Given the description of an element on the screen output the (x, y) to click on. 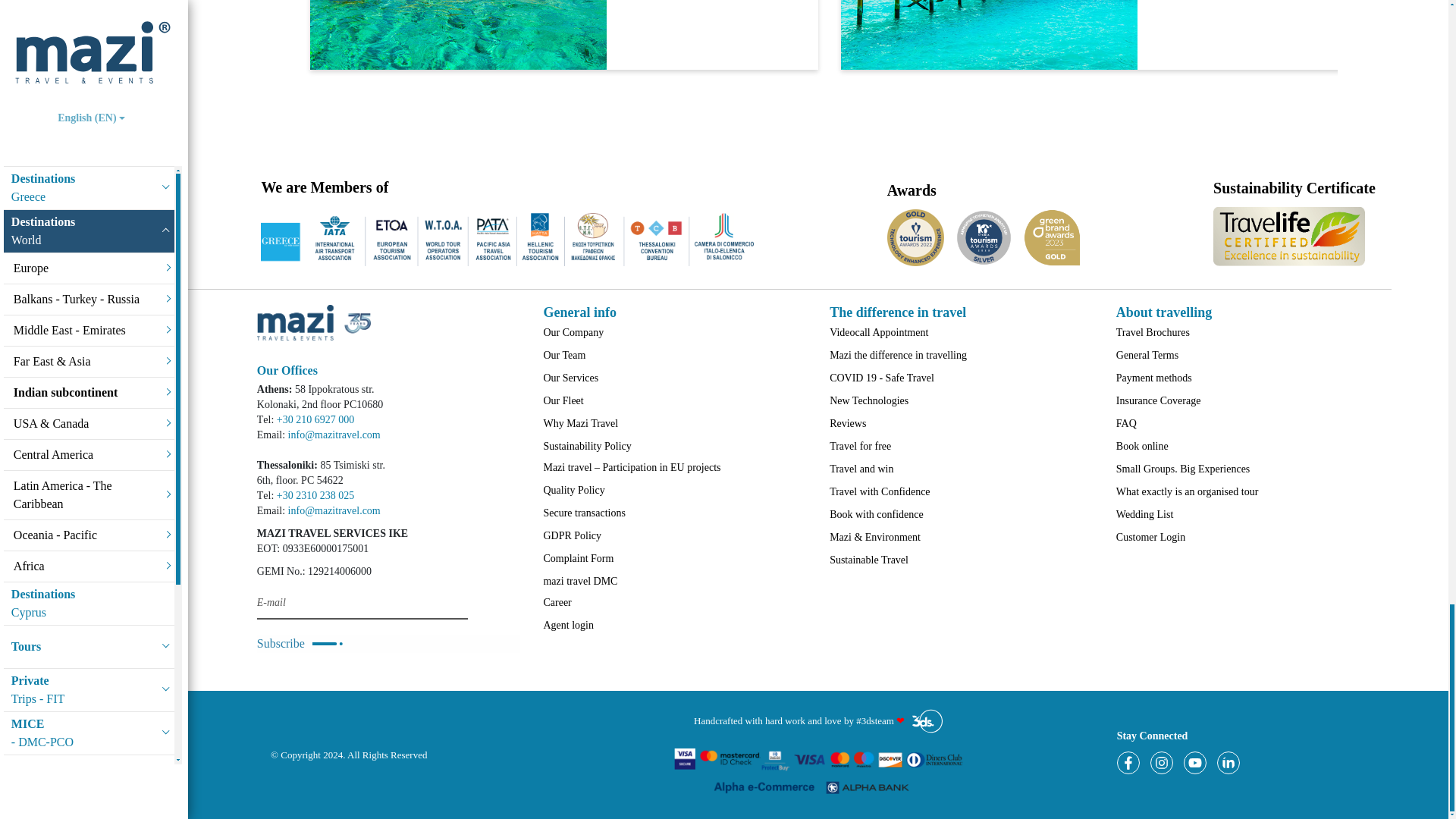
E-mail (362, 603)
3ds.gr (923, 720)
E-mail (362, 603)
 Mauritius  (458, 34)
